Given the description of an element on the screen output the (x, y) to click on. 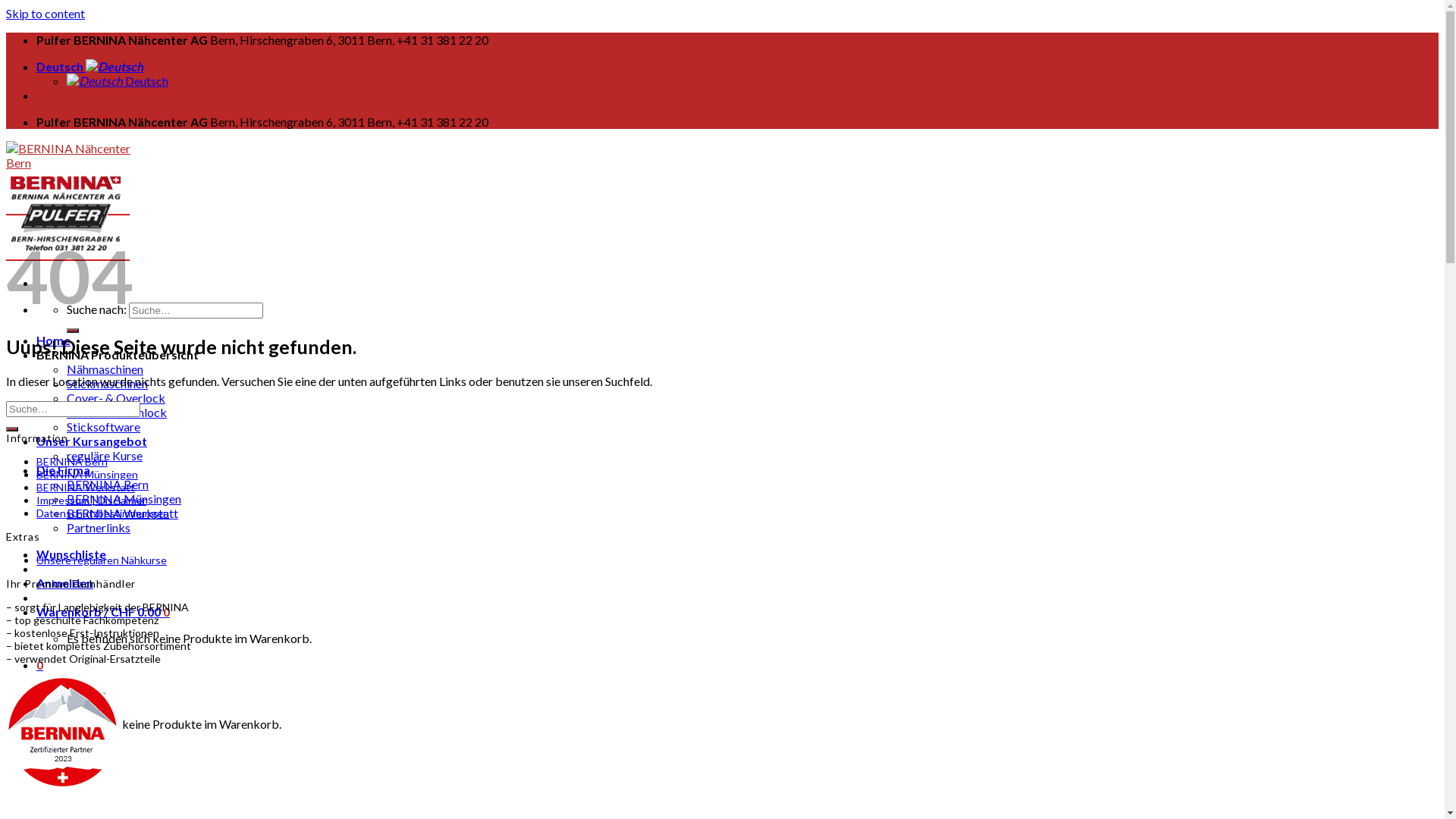
Wunschliste Element type: text (71, 553)
Warenkorb / CHF 0.00 0 Element type: text (102, 611)
Home Element type: text (53, 339)
Unser Kursangebot Element type: text (91, 440)
Sticksoftware Element type: text (103, 426)
Deutsch Element type: text (117, 80)
BERNINA Werkstatt Element type: text (122, 512)
Skip to content Element type: text (45, 13)
BERNINA Werkstatt Element type: text (85, 486)
bernette & Funlock Element type: text (116, 411)
Anmelden Element type: text (64, 582)
BERNINA Bern Element type: text (71, 461)
0 Element type: text (39, 664)
Impressum | Disclaimer Element type: text (91, 498)
Partnerlinks Element type: text (98, 527)
Stickmaschinen Element type: text (106, 383)
Cover- & Overlock Element type: text (115, 397)
Datenschutzbestimmungen Element type: text (102, 512)
BERNINA Bern Element type: text (107, 483)
Deutsch Element type: text (89, 66)
Suche Element type: text (72, 330)
Die Firma Element type: text (63, 469)
